Given the description of an element on the screen output the (x, y) to click on. 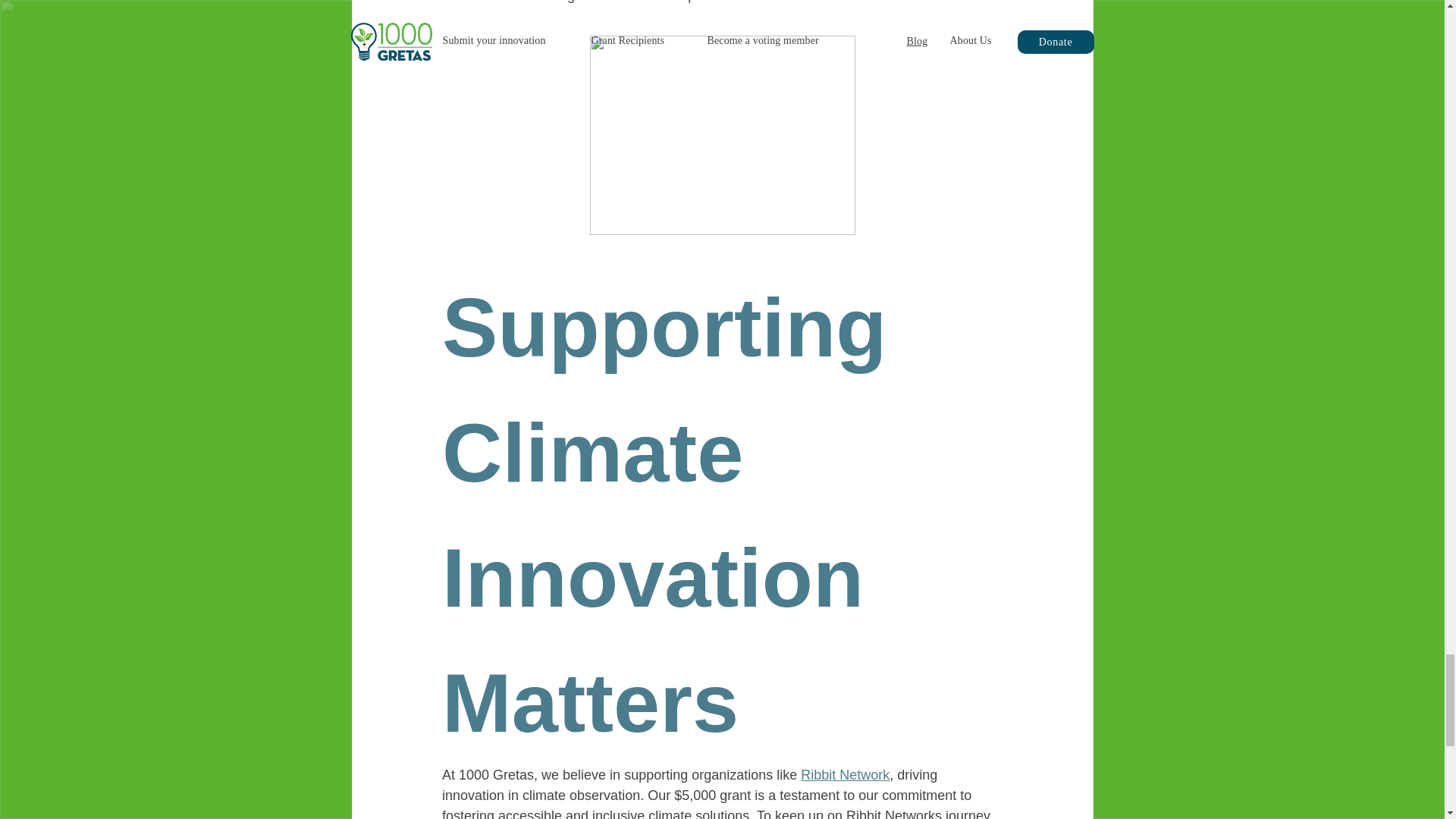
Ribbit Network (844, 774)
